Given the description of an element on the screen output the (x, y) to click on. 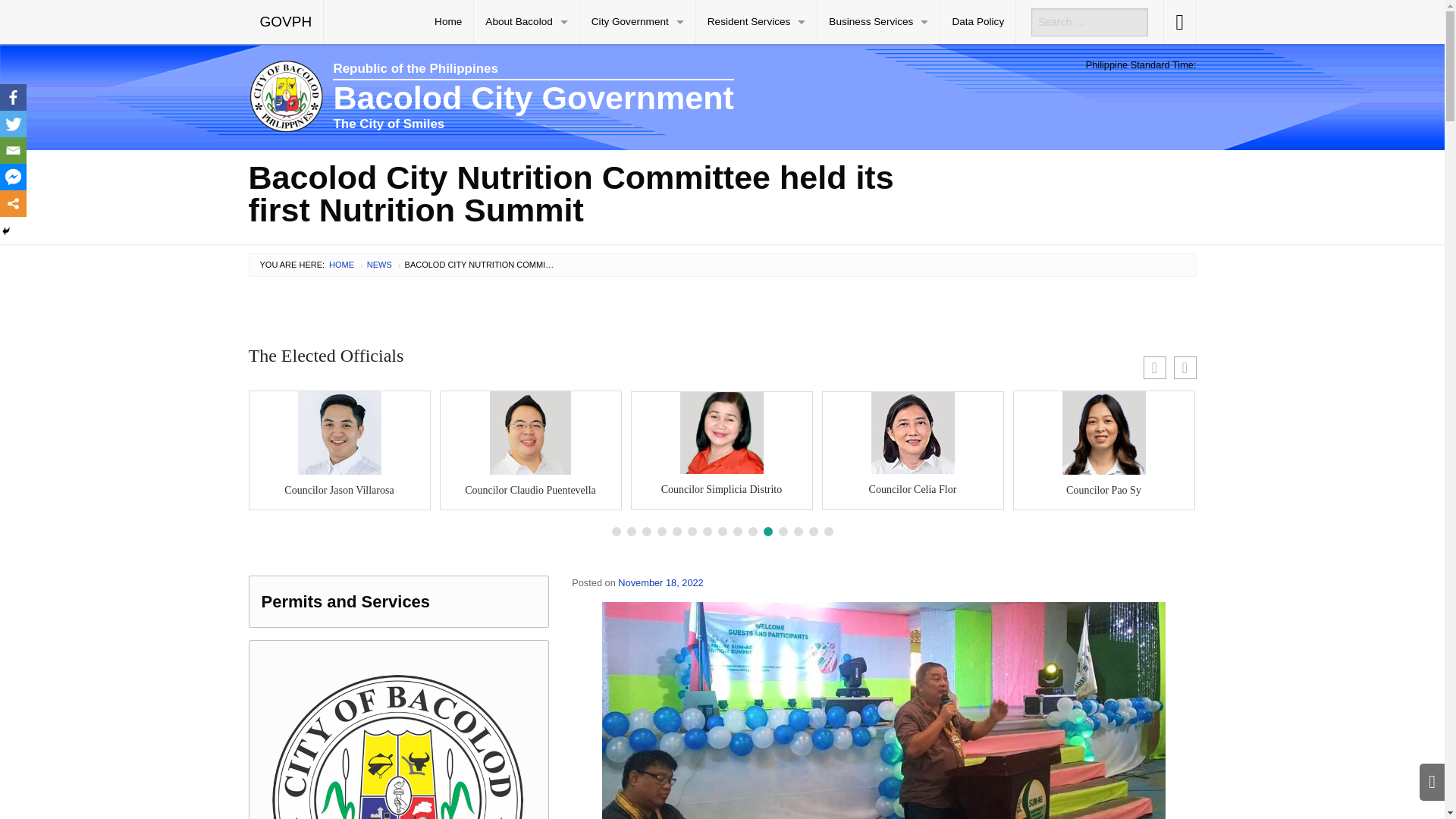
Search for: (1089, 21)
Bacolod City Government (600, 96)
